Given the description of an element on the screen output the (x, y) to click on. 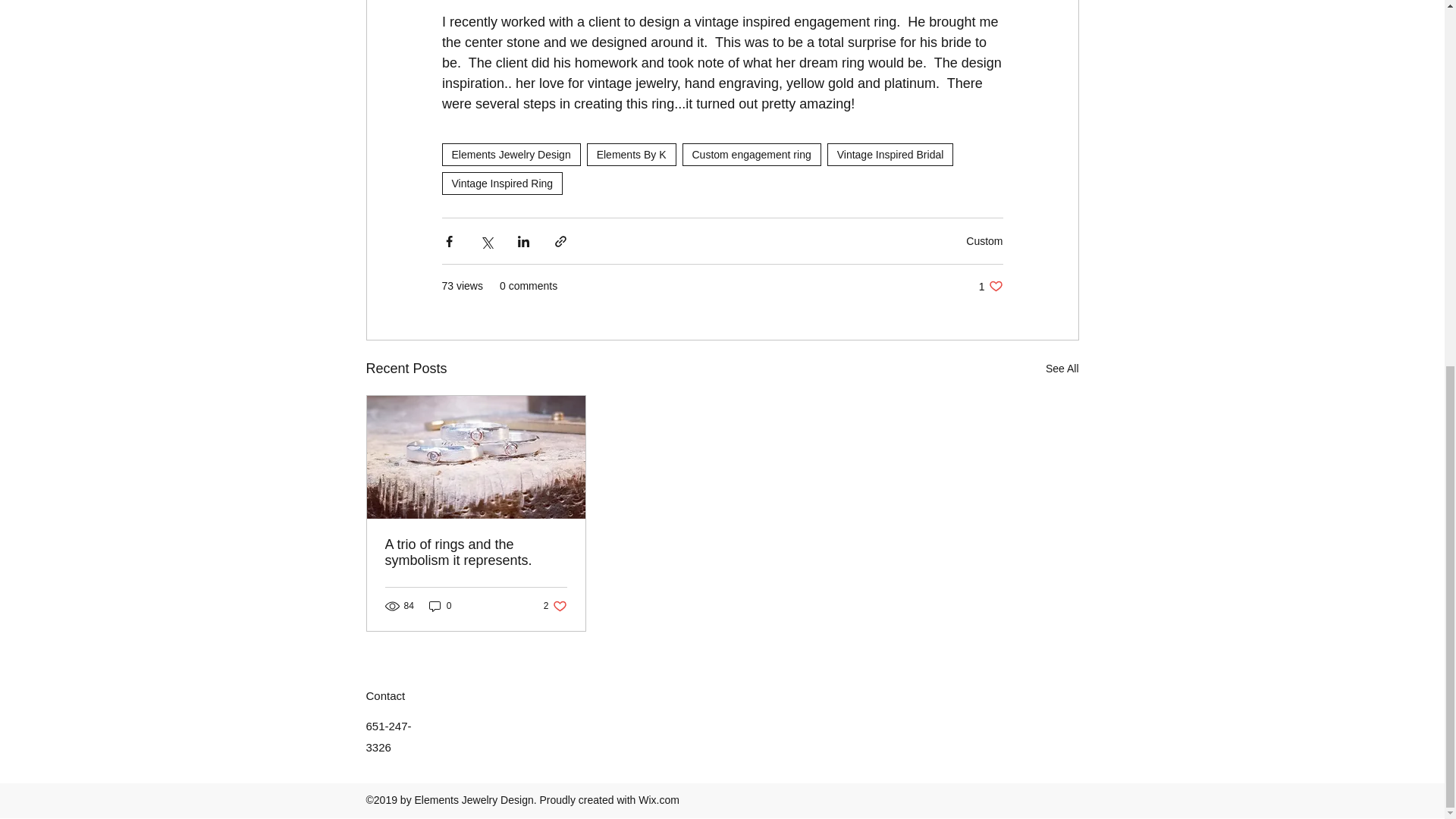
Vintage Inspired Bridal (890, 154)
Vintage Inspired Ring (501, 182)
A trio of rings and the symbolism it represents. (990, 286)
Custom (476, 552)
Custom engagement ring (984, 241)
See All (751, 154)
0 (1061, 368)
Elements By K (440, 605)
Elements Jewelry Design (631, 154)
